Given the description of an element on the screen output the (x, y) to click on. 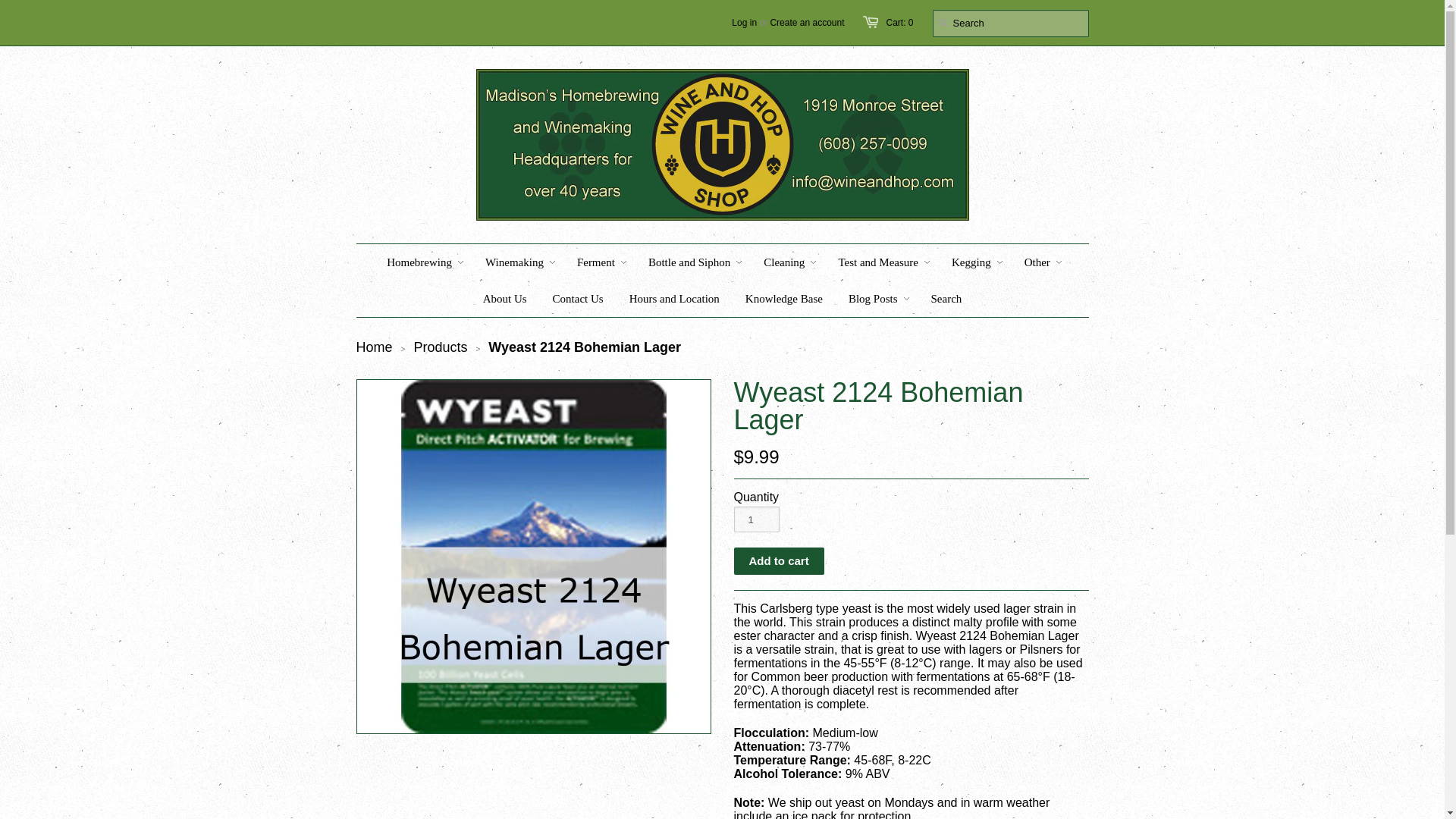
Wine and Hop Shop (374, 346)
Homebrewing (419, 262)
Add to cart (778, 560)
1 (755, 519)
Ferment (596, 262)
Log in (744, 22)
All Products (440, 346)
Cart: 0 (898, 22)
Shopping Cart (898, 22)
Winemaking (514, 262)
Create an account (807, 22)
